Given the description of an element on the screen output the (x, y) to click on. 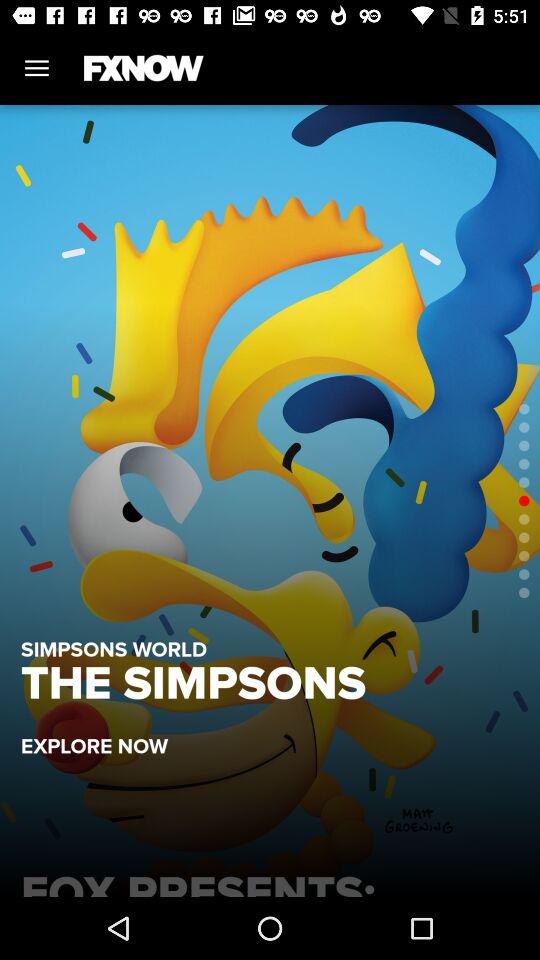
click item at the center (270, 500)
